Given the description of an element on the screen output the (x, y) to click on. 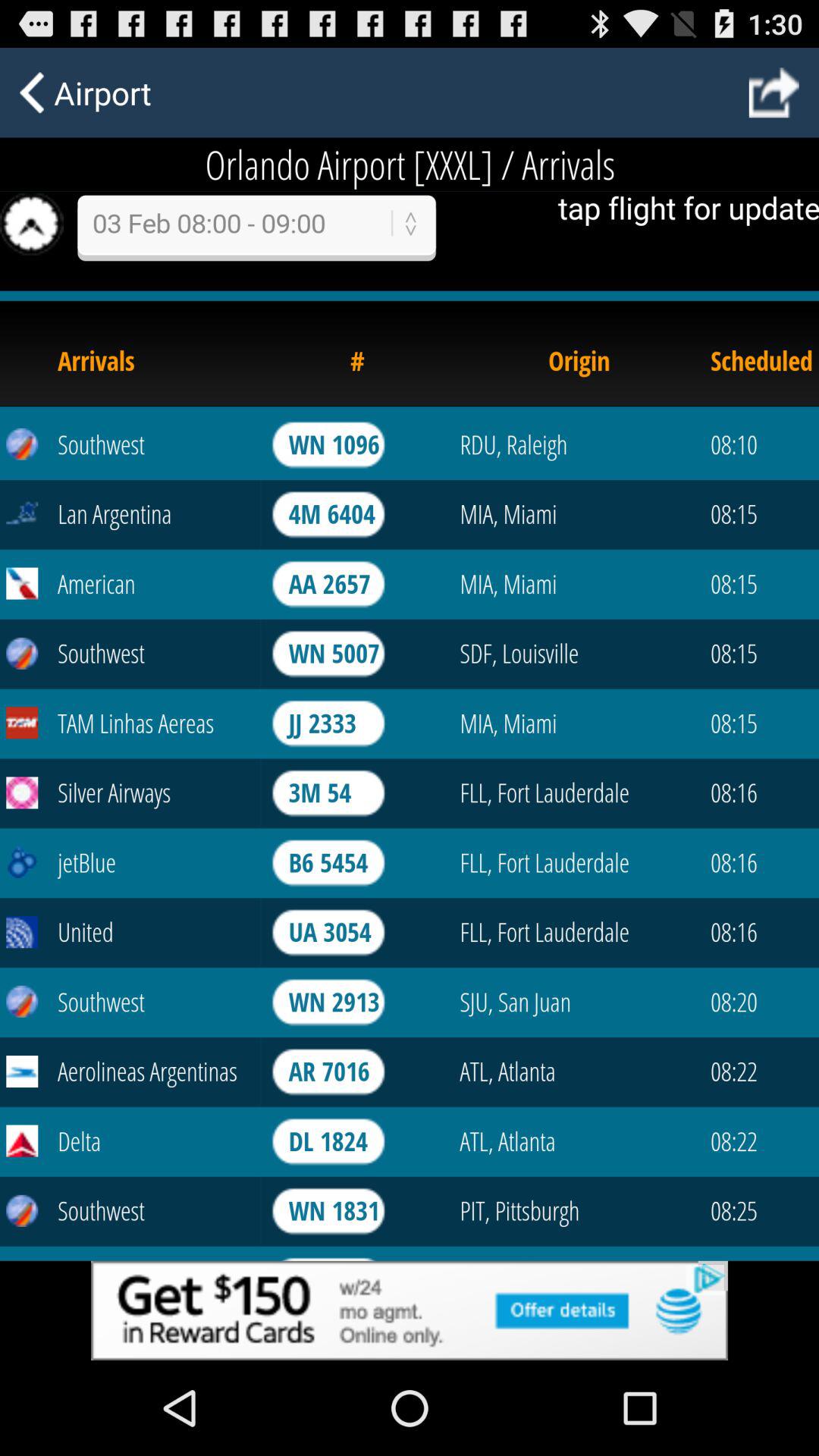
see flight update (409, 698)
